Given the description of an element on the screen output the (x, y) to click on. 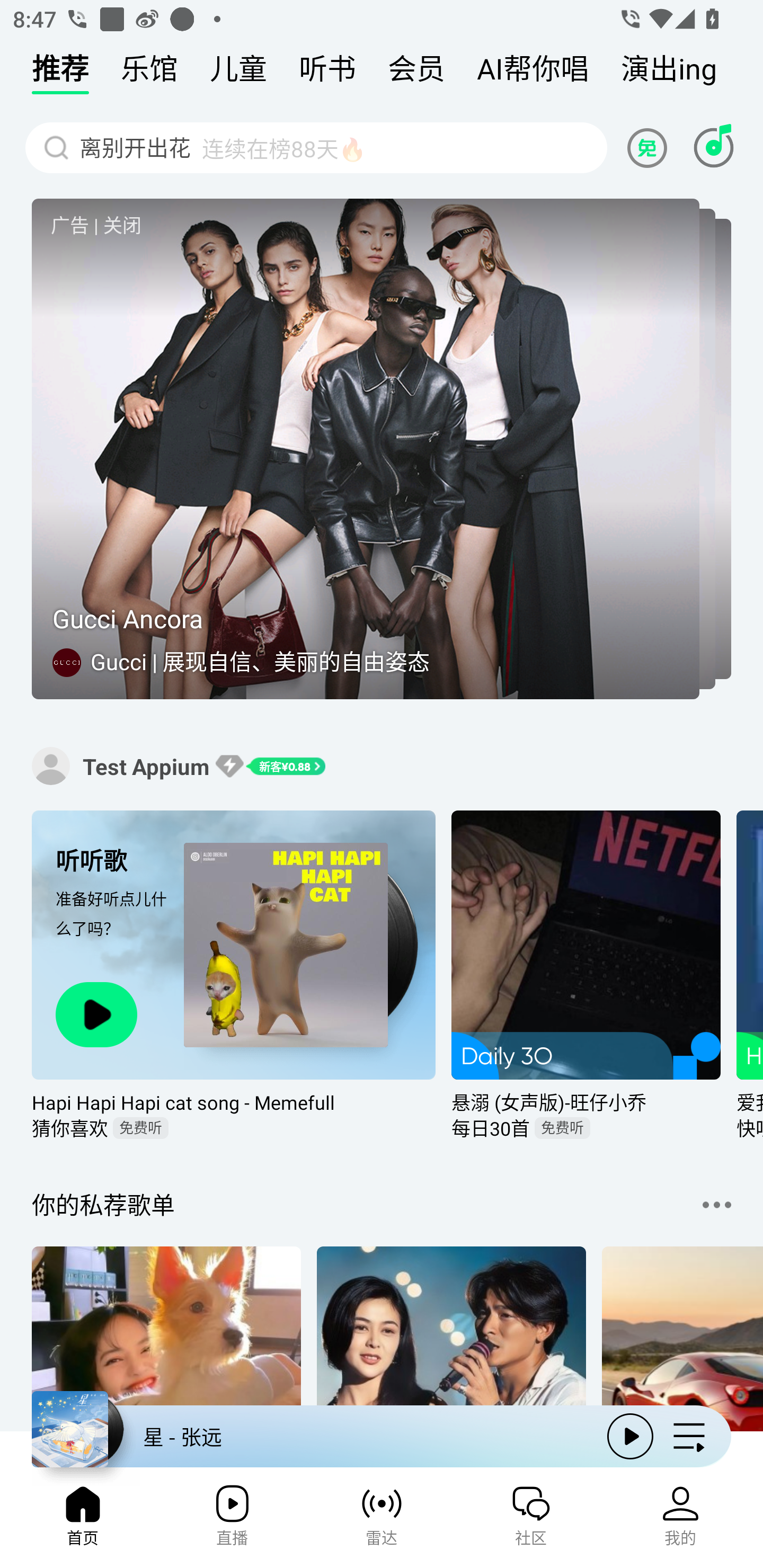
推荐 (60, 73)
乐馆 (149, 73)
儿童 (238, 73)
听书 (327, 73)
会员 (416, 73)
AI帮你唱 (532, 73)
演出ing (668, 73)
搜索 离别开出花连续在榜88天🔥 离别开出花 连续在榜88天🔥 (316, 147)
看广告免费听歌 (649, 146)
听歌识曲 (713, 146)
广告 | 关闭 Gucci Ancora Gucci | 展现自信、美丽的自由姿态 (381, 449)
广告 | 关闭 (96, 224)
Gucci | 展现自信、美丽的自由姿态 (261, 660)
Test Appium (51, 765)
新客¥0.88 VIP特权 (270, 765)
Test Appium (145, 765)
听听歌 (114, 860)
准备好听点儿什么了吗？ (114, 928)
播放猜你喜欢 (96, 1014)
Hapi Hapi Hapi cat song - Memefull (233, 1101)
悬溺 (女声版)-旺仔小乔 (585, 1101)
猜你喜欢免费听 (233, 1127)
每日30首免费听 (585, 1127)
你的私荐歌单 (103, 1204)
更多 (716, 1204)
500首抖音热歌：包你一次听个够音频. . 10.1万人收藏. 收听量, 1.8亿 (166, 1339)
【粤语老歌】岁月更迭，情怀依旧音频. . 5847人收藏. 收听量, 1324万 (450, 1339)
车载DJ : 旅途愉快，嗨掉疲劳音频. . 629人收藏. 收听量, 208.4万 (682, 1339)
星 - 张远 (311, 1435)
播放 (630, 1435)
歌曲队列 (688, 1435)
首页 (82, 1521)
直播 (231, 1521)
雷达 (381, 1521)
社区 (530, 1521)
我的 (680, 1521)
